Given the description of an element on the screen output the (x, y) to click on. 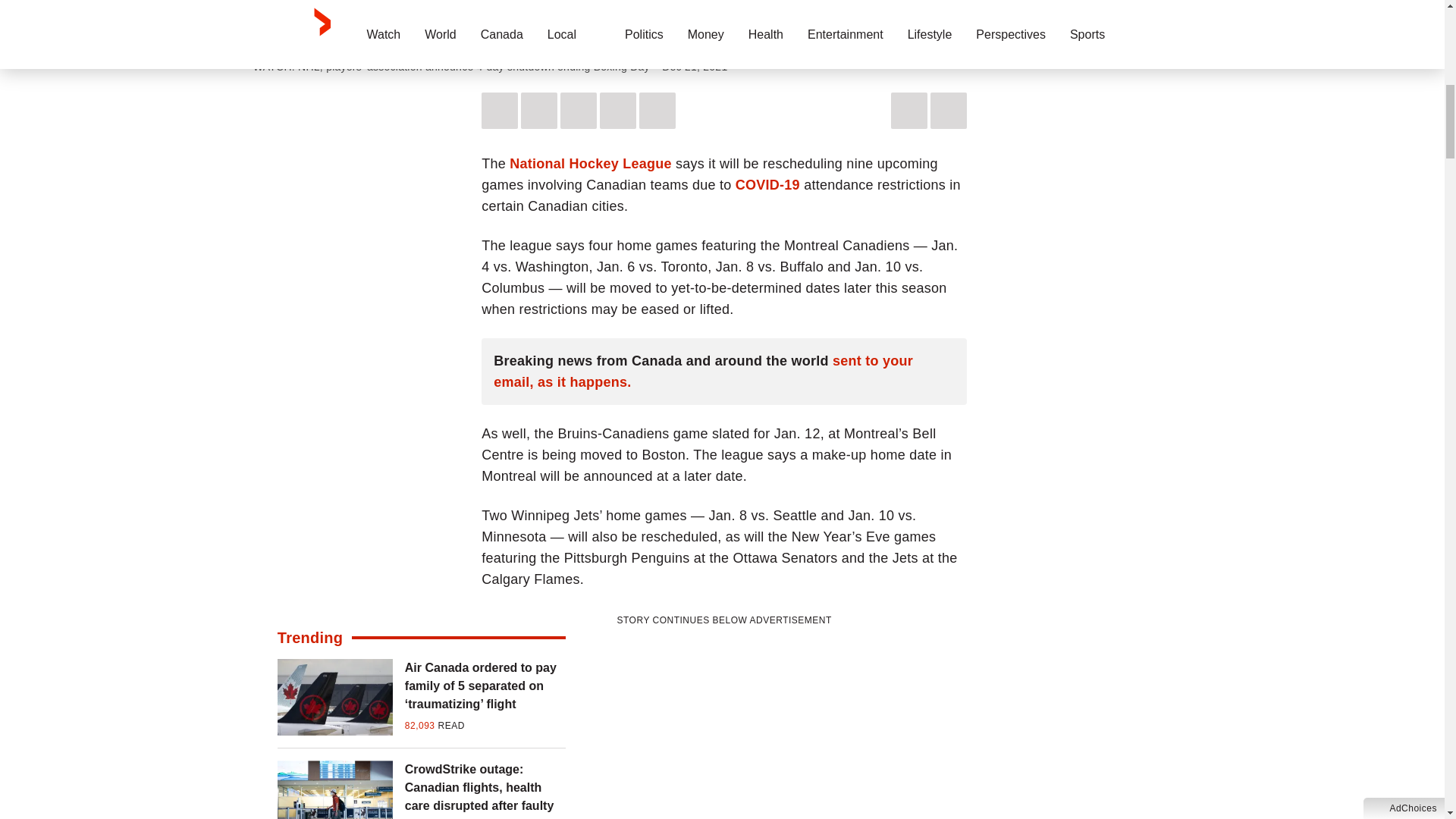
Sticky Video (724, 23)
3rd party ad content (724, 724)
